Given the description of an element on the screen output the (x, y) to click on. 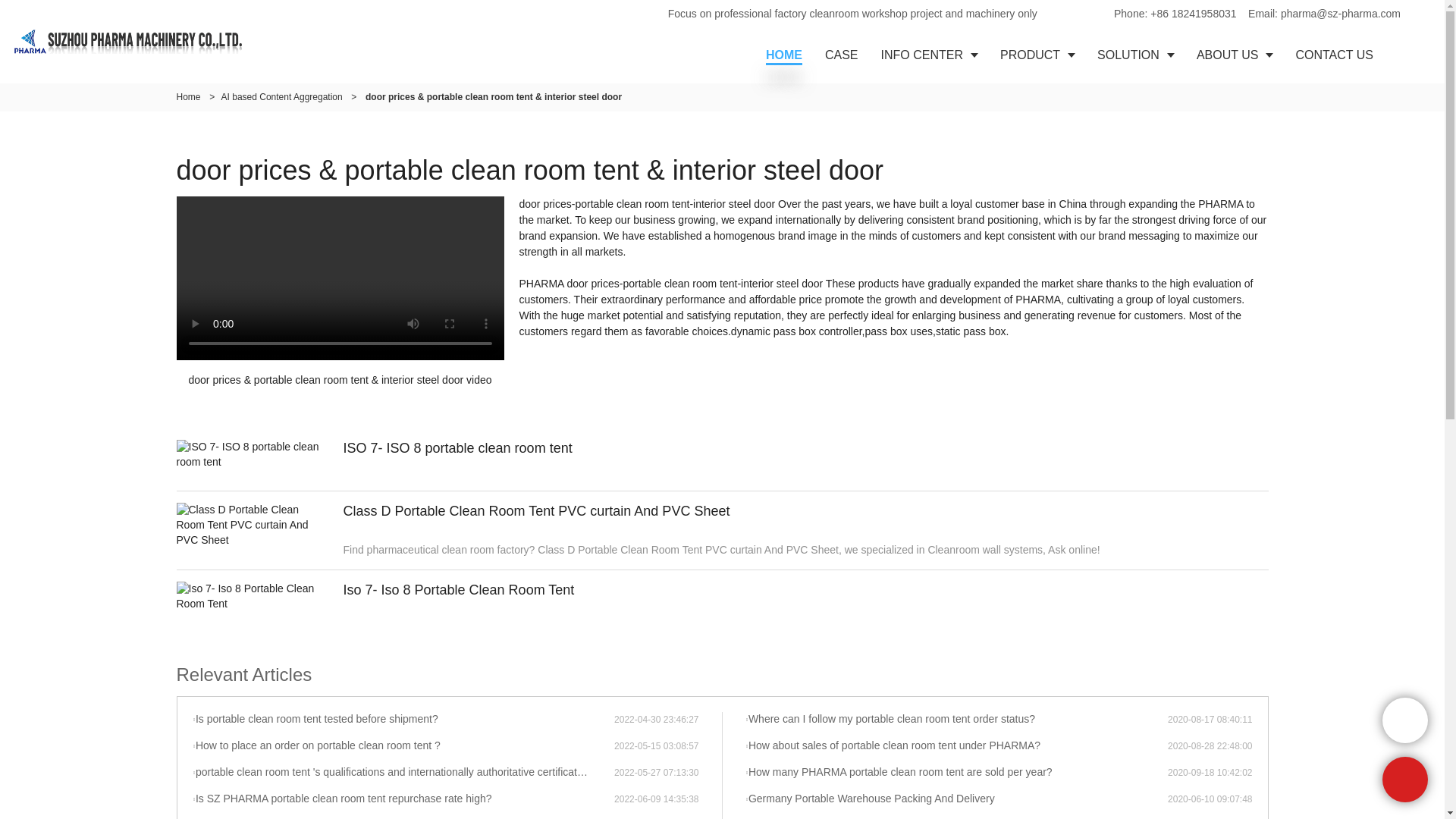
CASE (841, 55)
INFO CENTER (928, 55)
PRODUCT (1037, 55)
HOME (783, 55)
